Given the description of an element on the screen output the (x, y) to click on. 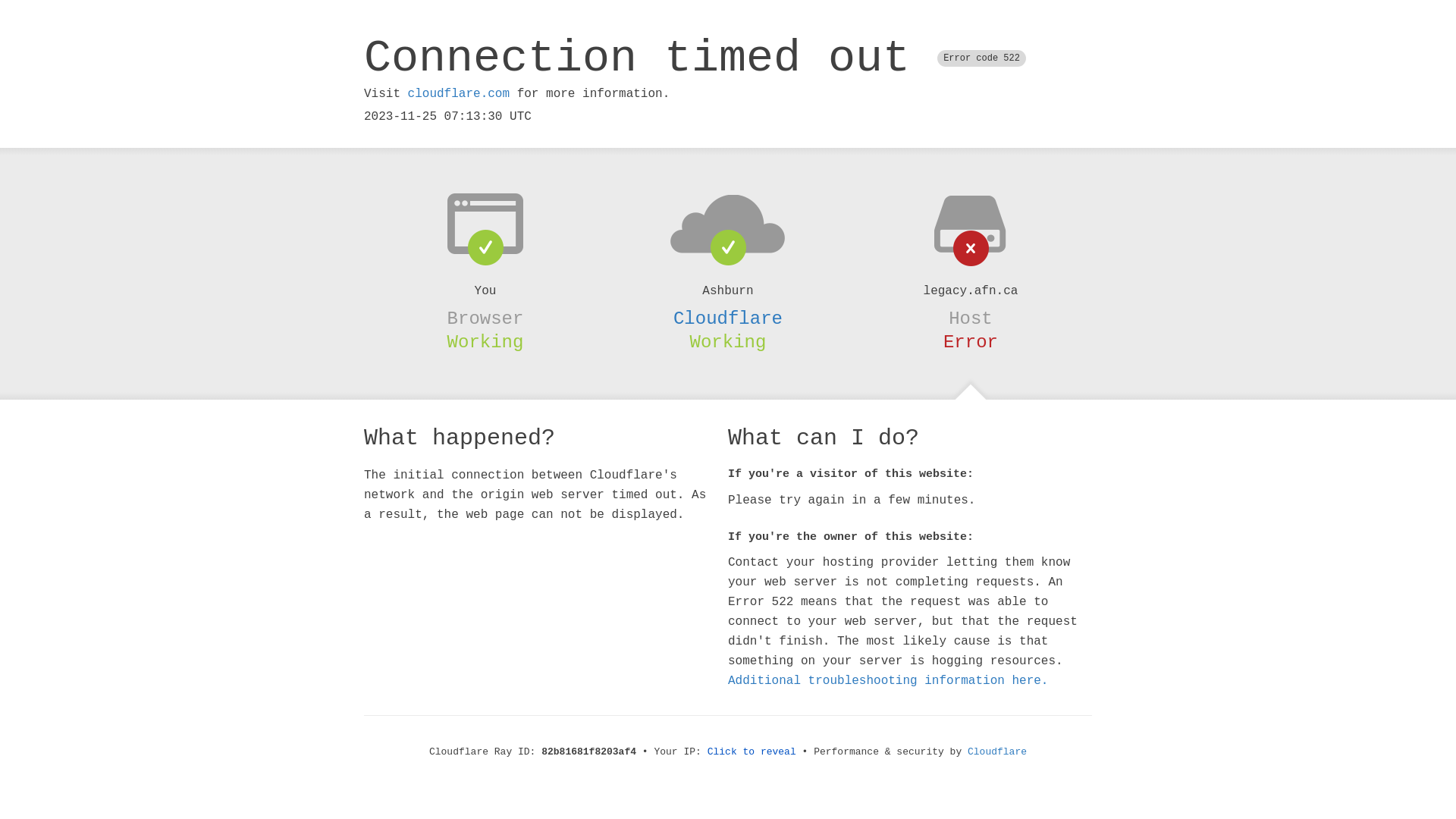
cloudflare.com Element type: text (458, 93)
Cloudflare Element type: text (996, 751)
Additional troubleshooting information here. Element type: text (888, 680)
Cloudflare Element type: text (727, 318)
Click to reveal Element type: text (751, 751)
